Given the description of an element on the screen output the (x, y) to click on. 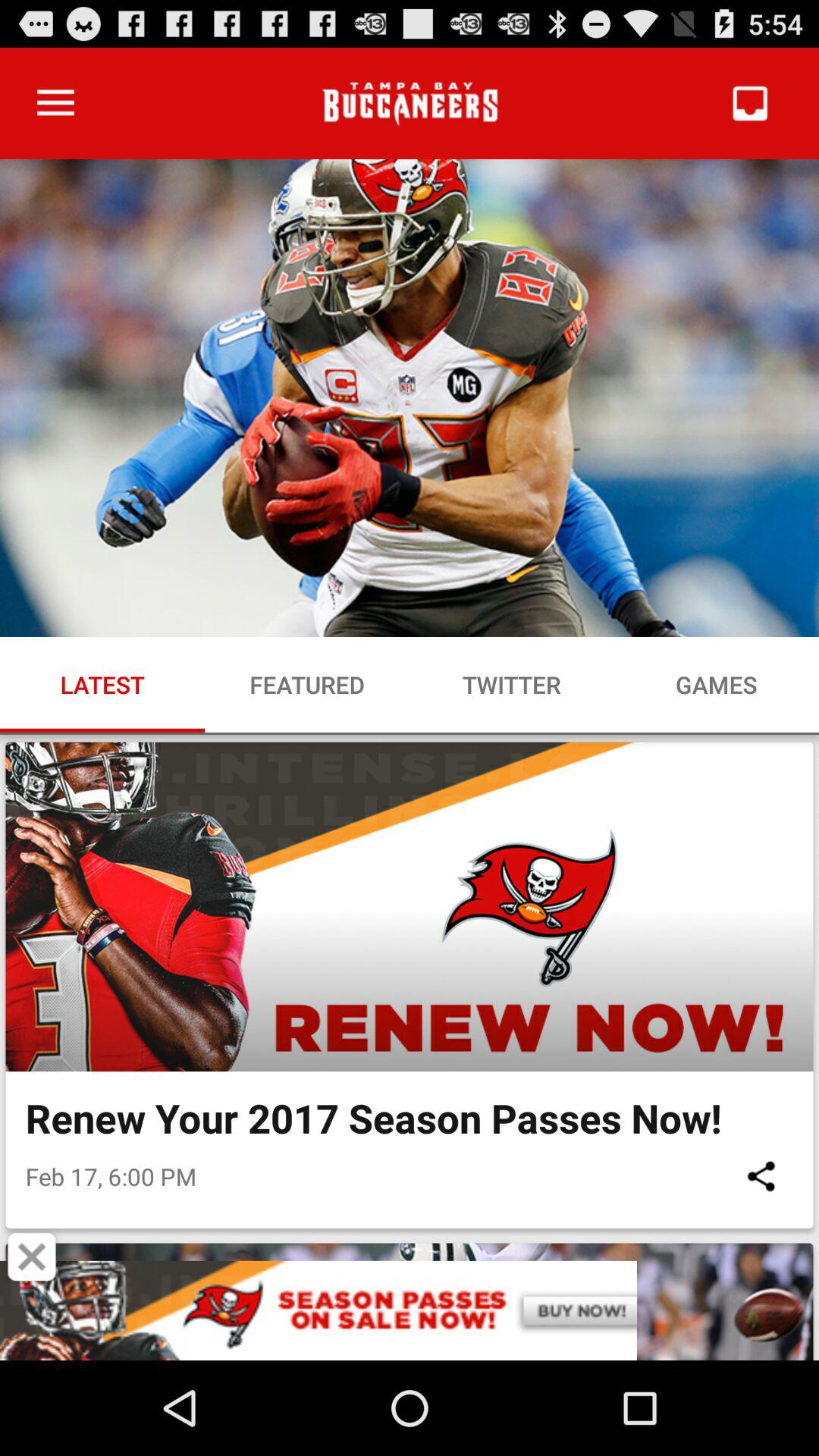
select the third image (409, 1301)
